Given the description of an element on the screen output the (x, y) to click on. 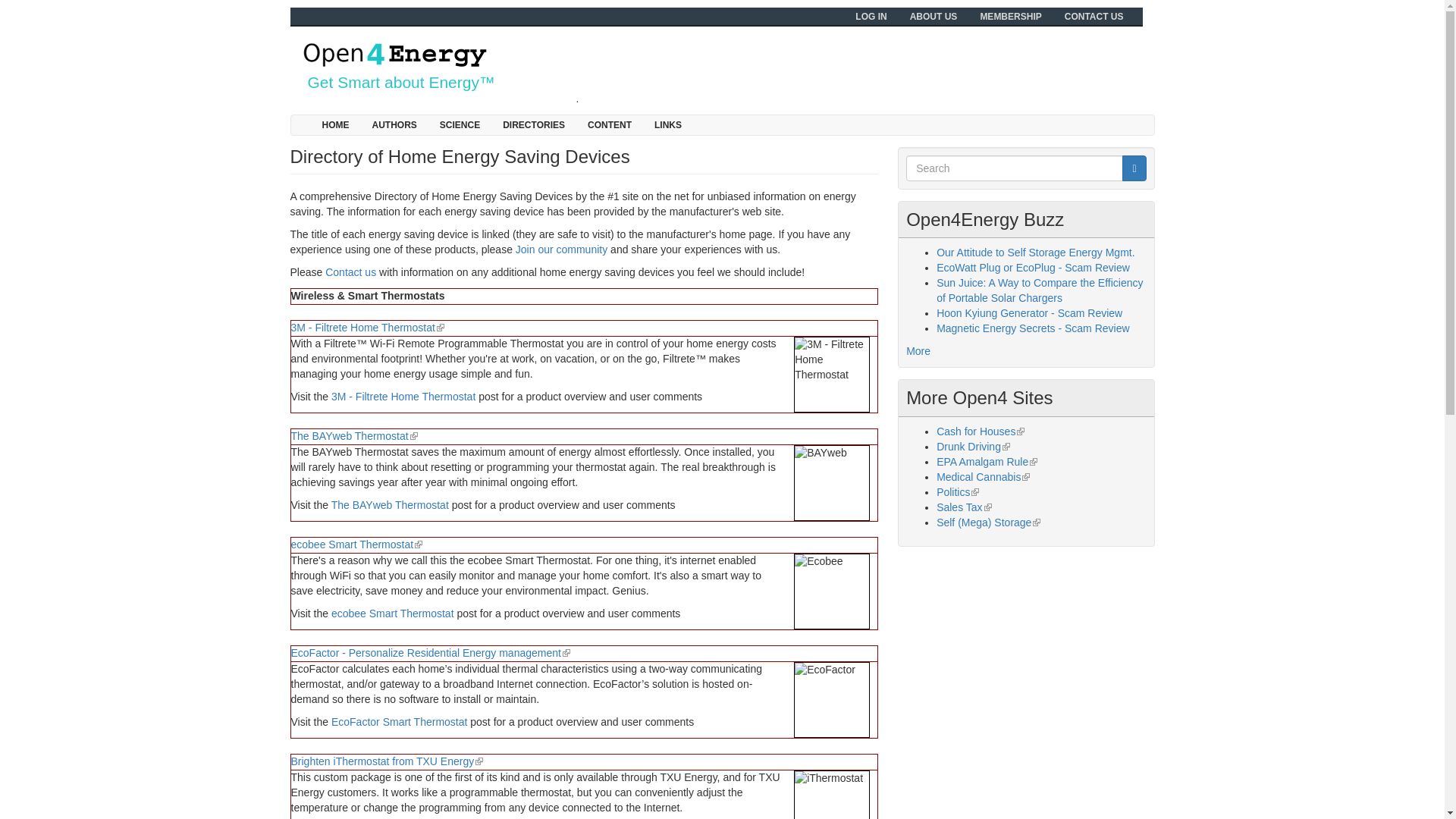
MEMBERSHIP (1010, 16)
The BAYweb Thermostat (389, 504)
CONTACT US (1093, 16)
Contact us (349, 272)
3M - Filtrete Home Thermostat (831, 374)
DIRECTORIES (534, 125)
Join our community (561, 249)
ecobee Smart Thermostat (392, 613)
